Given the description of an element on the screen output the (x, y) to click on. 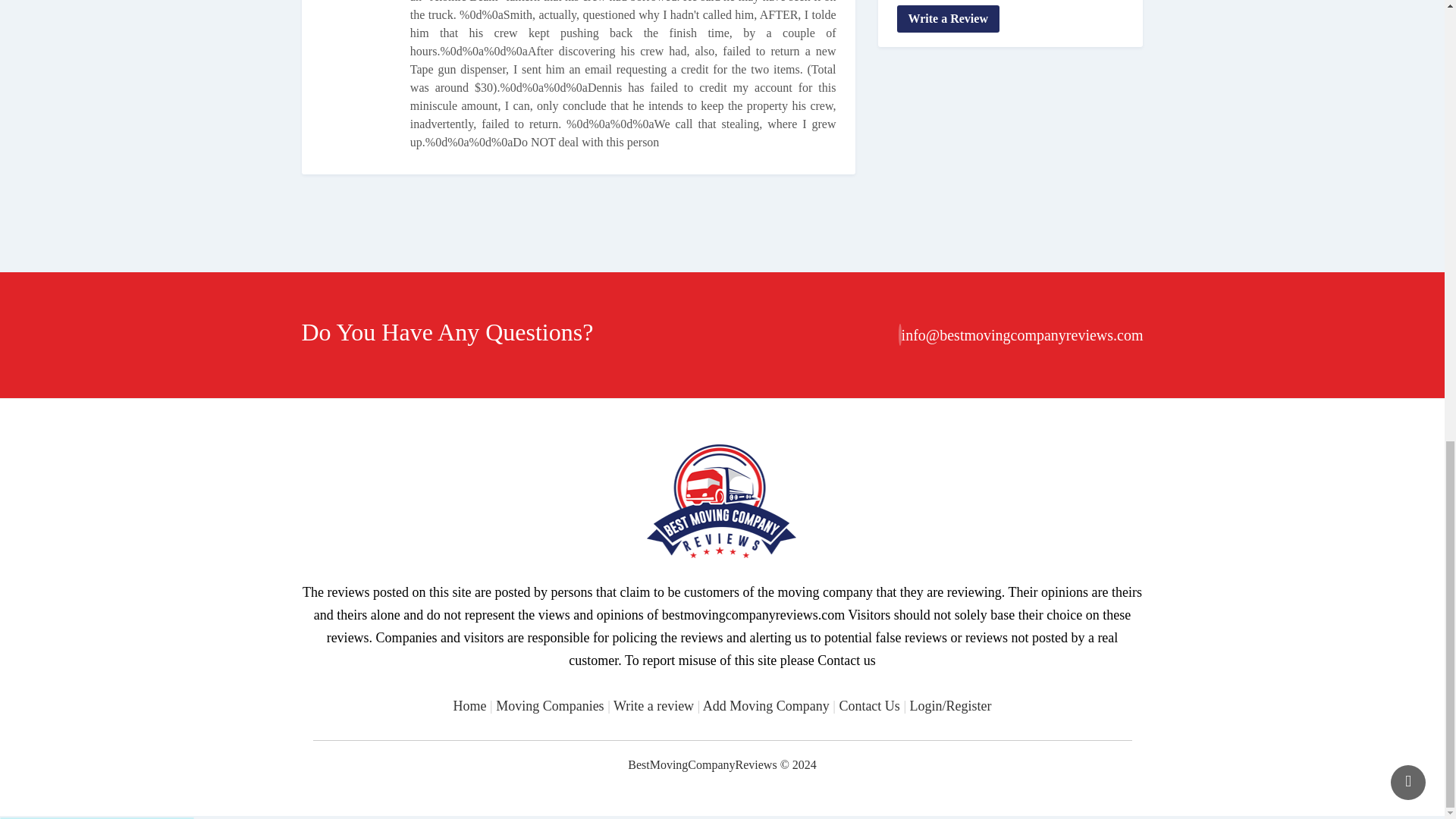
Add Moving Company (766, 705)
Write a Review (947, 18)
Home (469, 705)
Moving Companies (550, 705)
Write a review (653, 705)
Contact Us (868, 705)
